Given the description of an element on the screen output the (x, y) to click on. 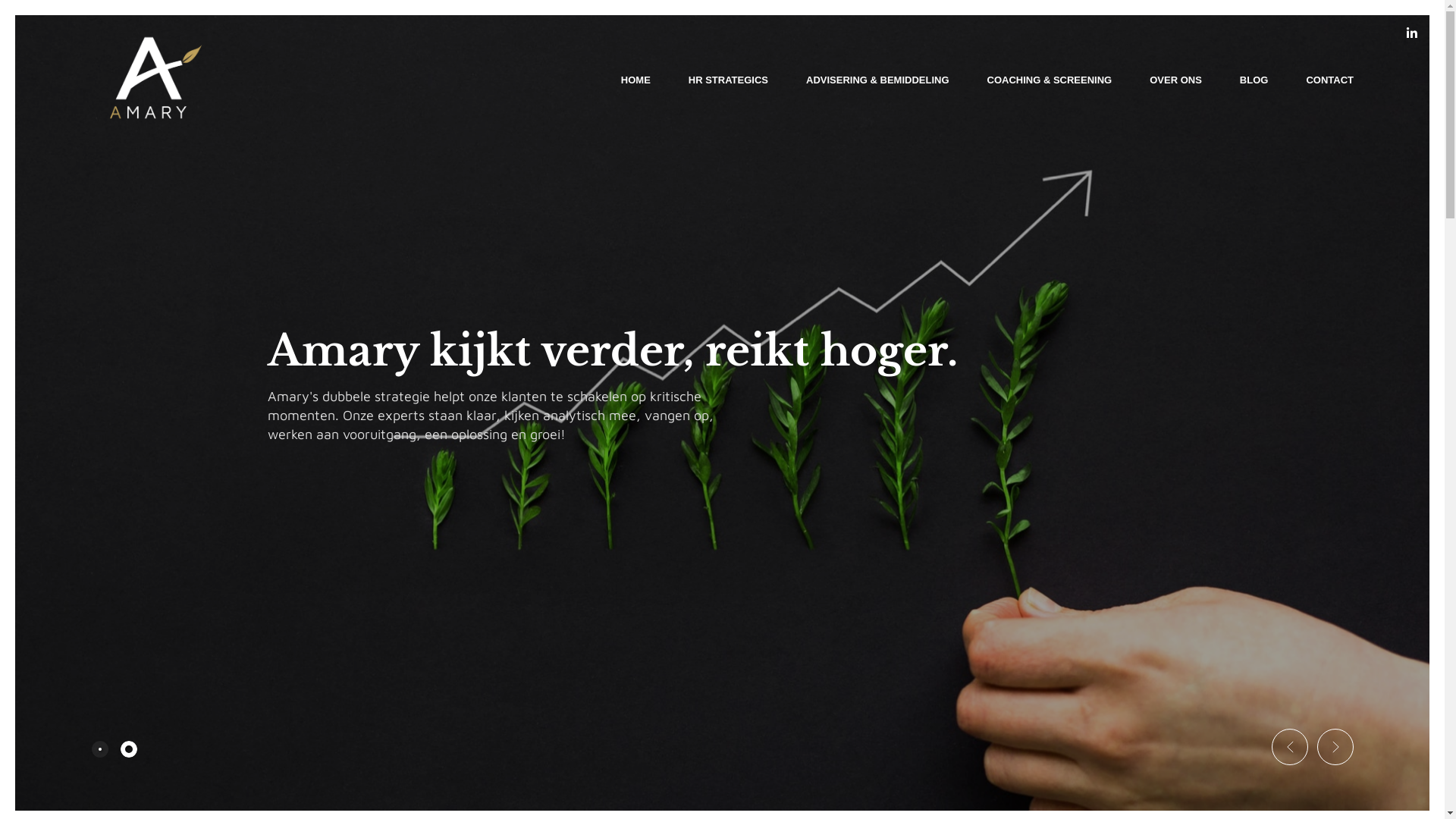
BLOG Element type: text (1253, 79)
COACHING & SCREENING Element type: text (1049, 79)
HOME Element type: text (635, 79)
ADVISERING & BEMIDDELING Element type: text (877, 79)
CONTACT Element type: text (1329, 79)
HR STRATEGICS Element type: text (728, 79)
OVER ONS Element type: text (1175, 79)
